Given the description of an element on the screen output the (x, y) to click on. 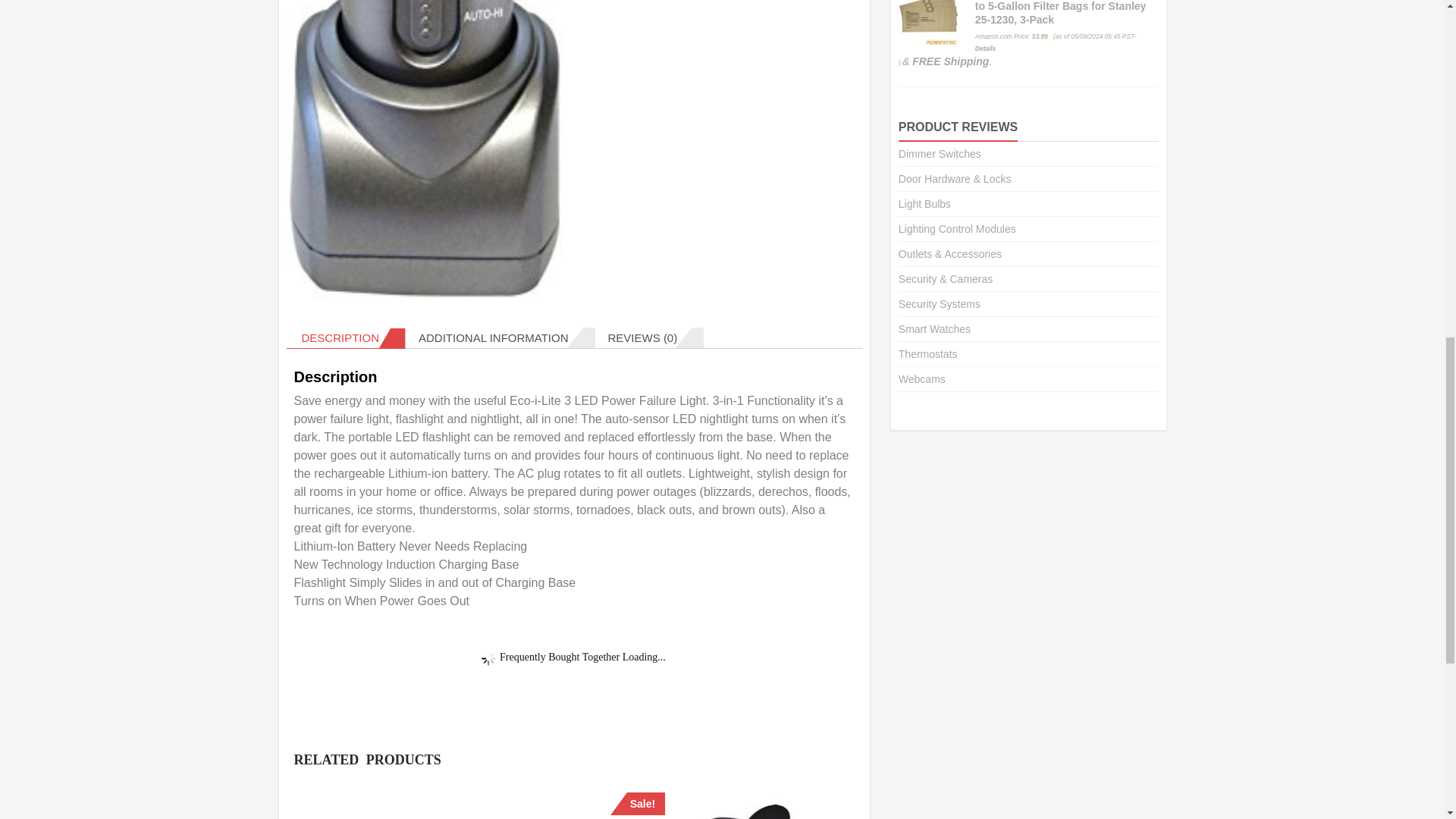
Eco-i-Lite-0 (424, 152)
